Given the description of an element on the screen output the (x, y) to click on. 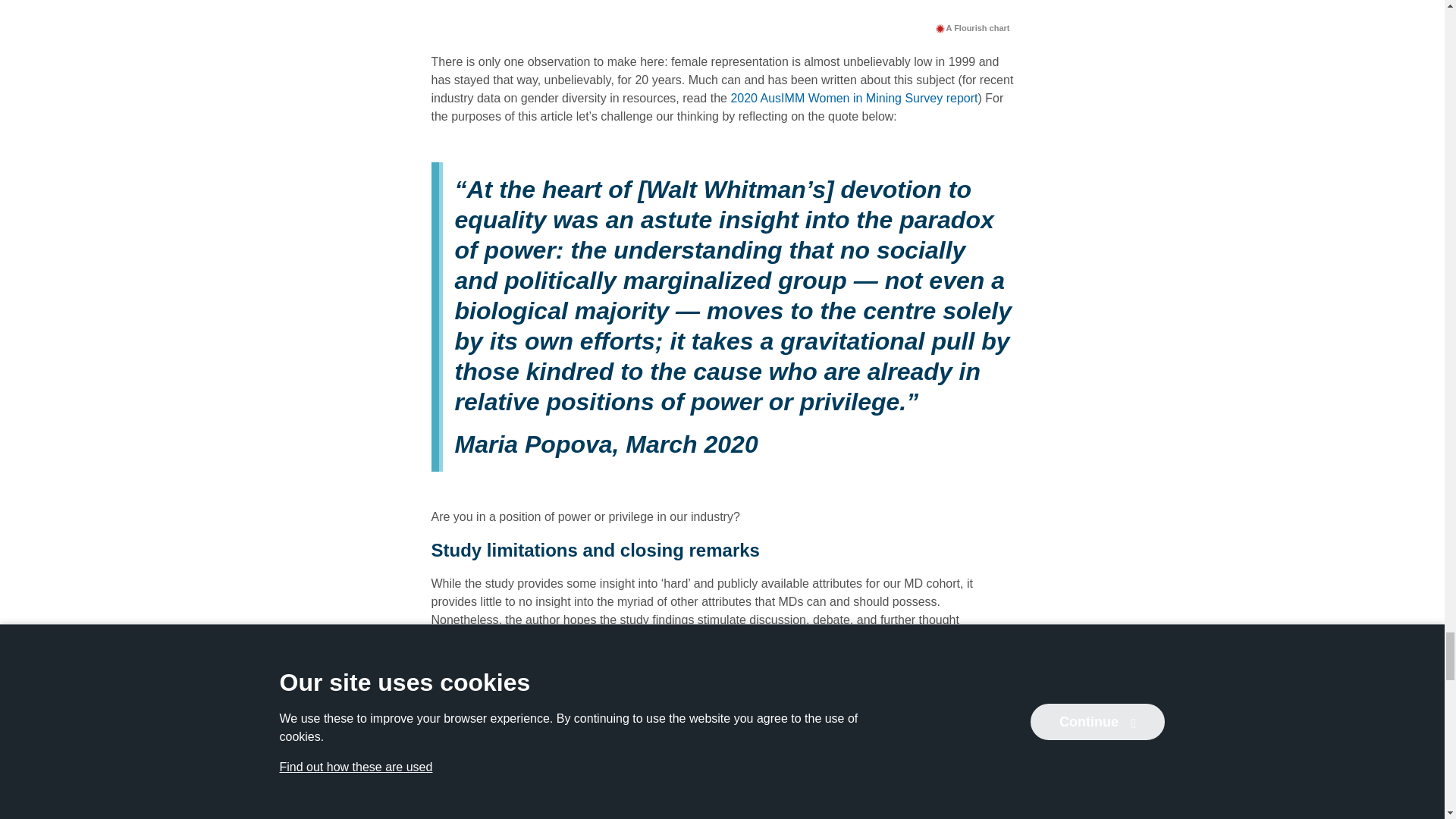
2020 AusIMM Women in Mining Survey report (853, 97)
Interactive or visual content (721, 7)
A Flourish chart (972, 27)
